Given the description of an element on the screen output the (x, y) to click on. 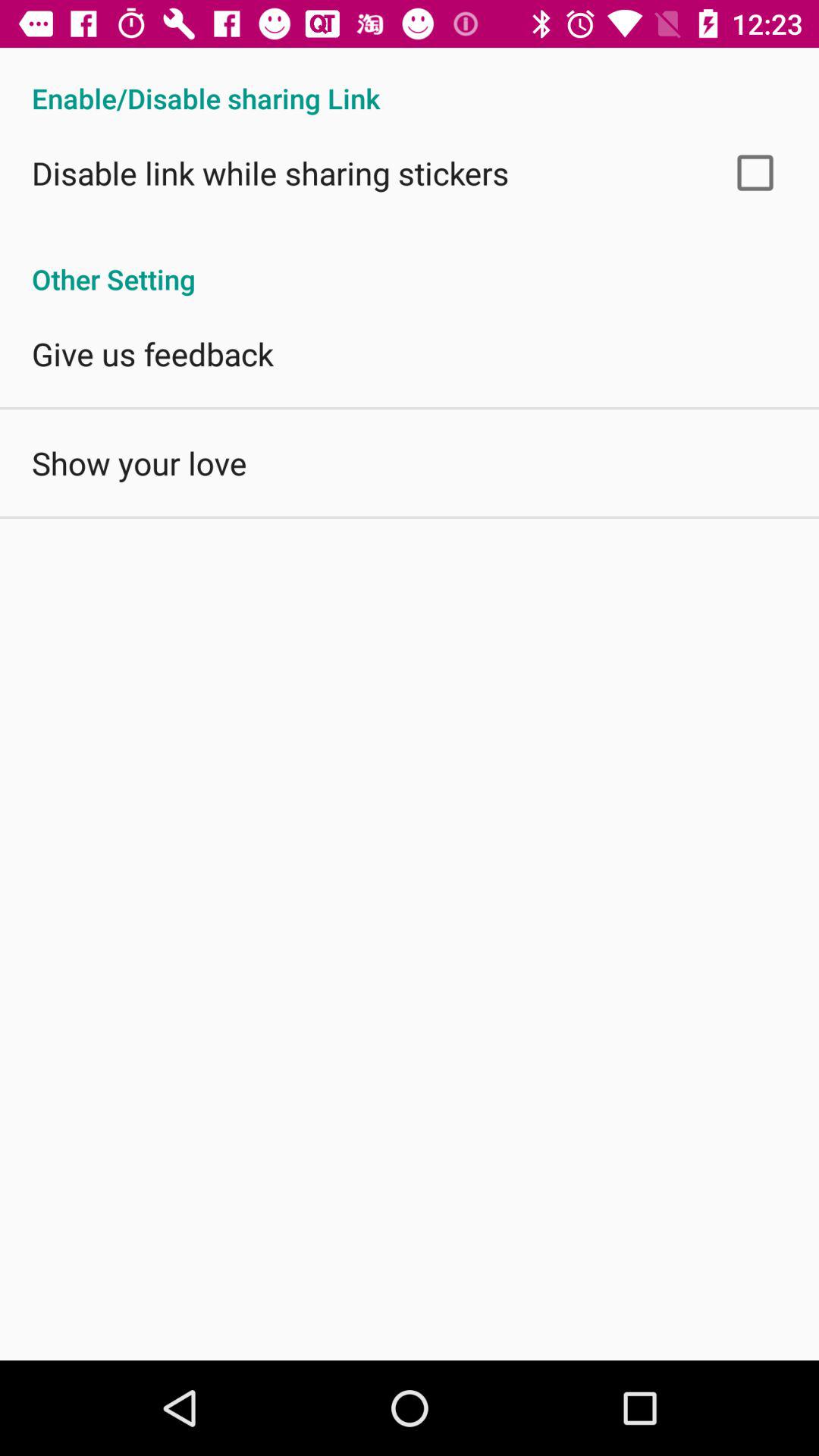
launch item above give us feedback item (409, 263)
